Given the description of an element on the screen output the (x, y) to click on. 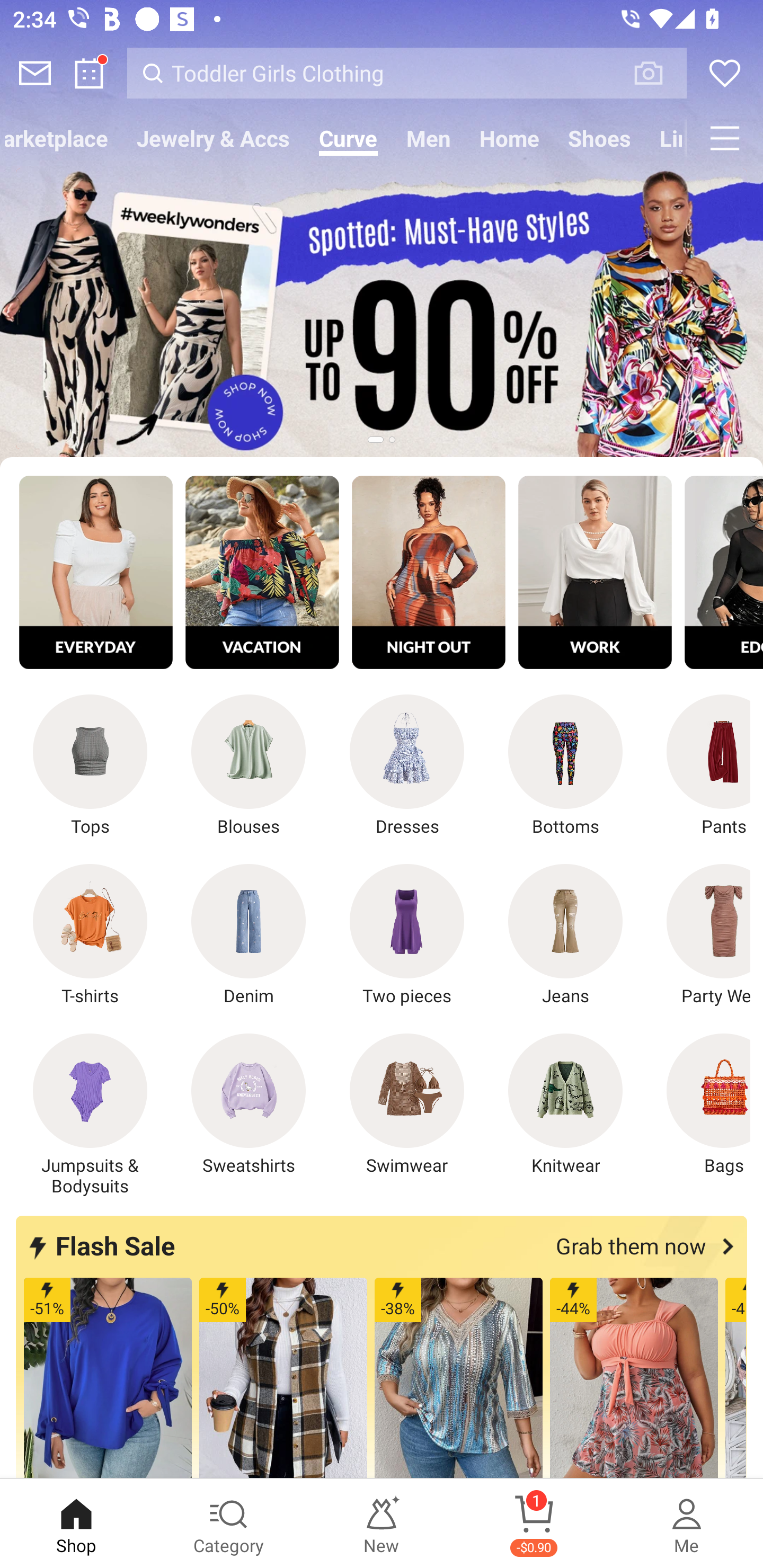
Wishlist (724, 72)
VISUAL SEARCH (657, 72)
Marketplace (61, 137)
Jewelry & Accs (213, 137)
Curve (348, 137)
Men (428, 137)
Home (509, 137)
Shoes (599, 137)
Tops (89, 765)
Blouses (248, 765)
Dresses (406, 765)
Bottoms (565, 765)
Pants (698, 765)
T-shirts (89, 934)
Denim (248, 934)
Two pieces (406, 934)
Jeans (565, 934)
Party Wear (698, 934)
Jumpsuits & Bodysuits (89, 1114)
Sweatshirts (248, 1104)
Swimwear (406, 1104)
Knitwear (565, 1104)
Bags (698, 1104)
Category (228, 1523)
New (381, 1523)
Cart 1 -$0.90 (533, 1523)
Me (686, 1523)
